Given the description of an element on the screen output the (x, y) to click on. 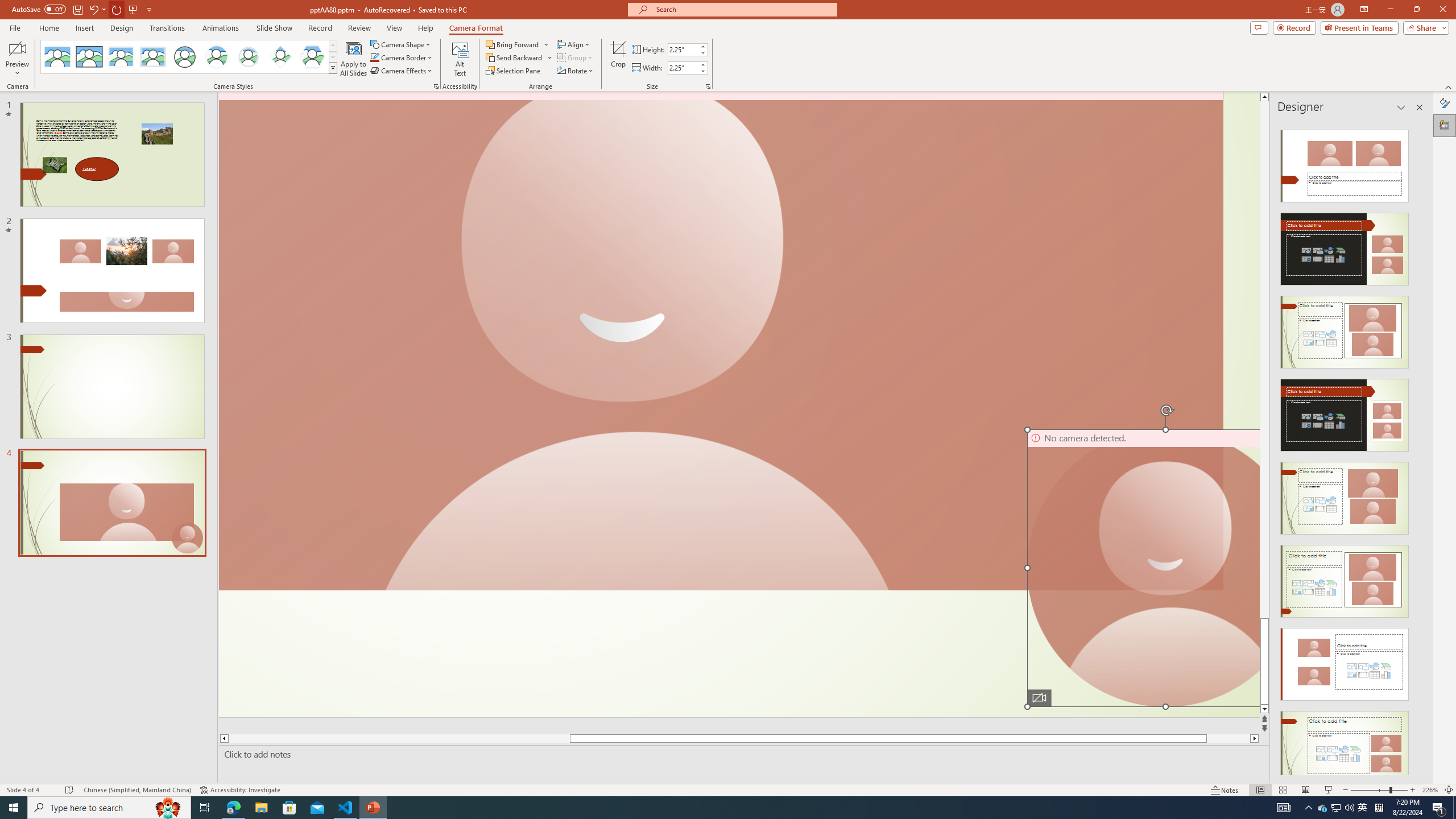
Camera Shape (400, 44)
Cameo Width (682, 67)
Size and Position... (707, 85)
Bring Forward (517, 44)
Apply to All Slides (353, 58)
